Given the description of an element on the screen output the (x, y) to click on. 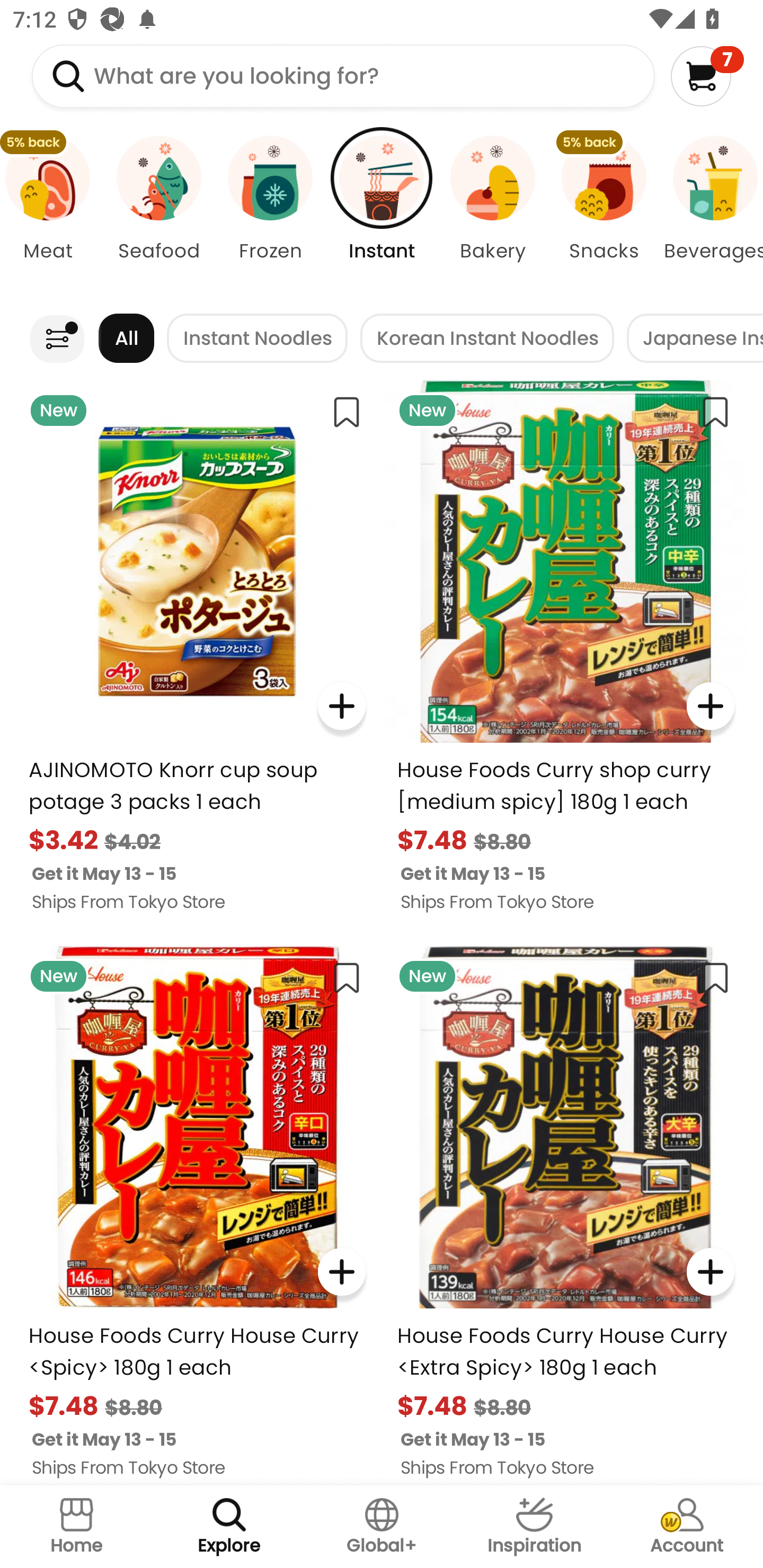
What are you looking for? (343, 75)
7 (706, 75)
5% back Meat (51, 214)
Seafood (158, 214)
Frozen (269, 214)
Instant (381, 214)
Bakery (492, 214)
5% back Snacks (603, 214)
Beverages (711, 214)
All (126, 337)
Instant Noodles (257, 337)
Korean Instant Noodles (487, 337)
Japanese Instant Noodles (695, 337)
Home (76, 1526)
Explore (228, 1526)
Global+ (381, 1526)
Inspiration (533, 1526)
Account (686, 1526)
